Given the description of an element on the screen output the (x, y) to click on. 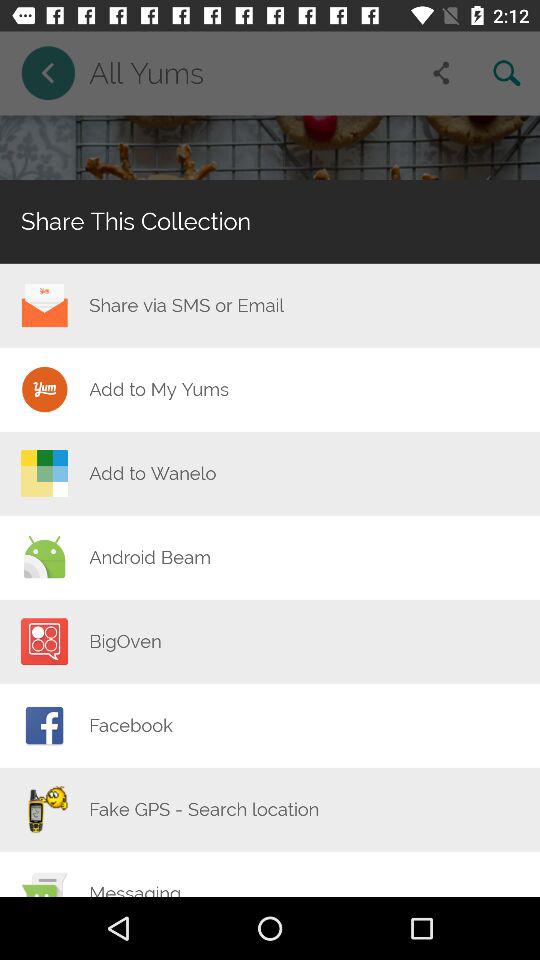
jump until the messaging icon (135, 889)
